Given the description of an element on the screen output the (x, y) to click on. 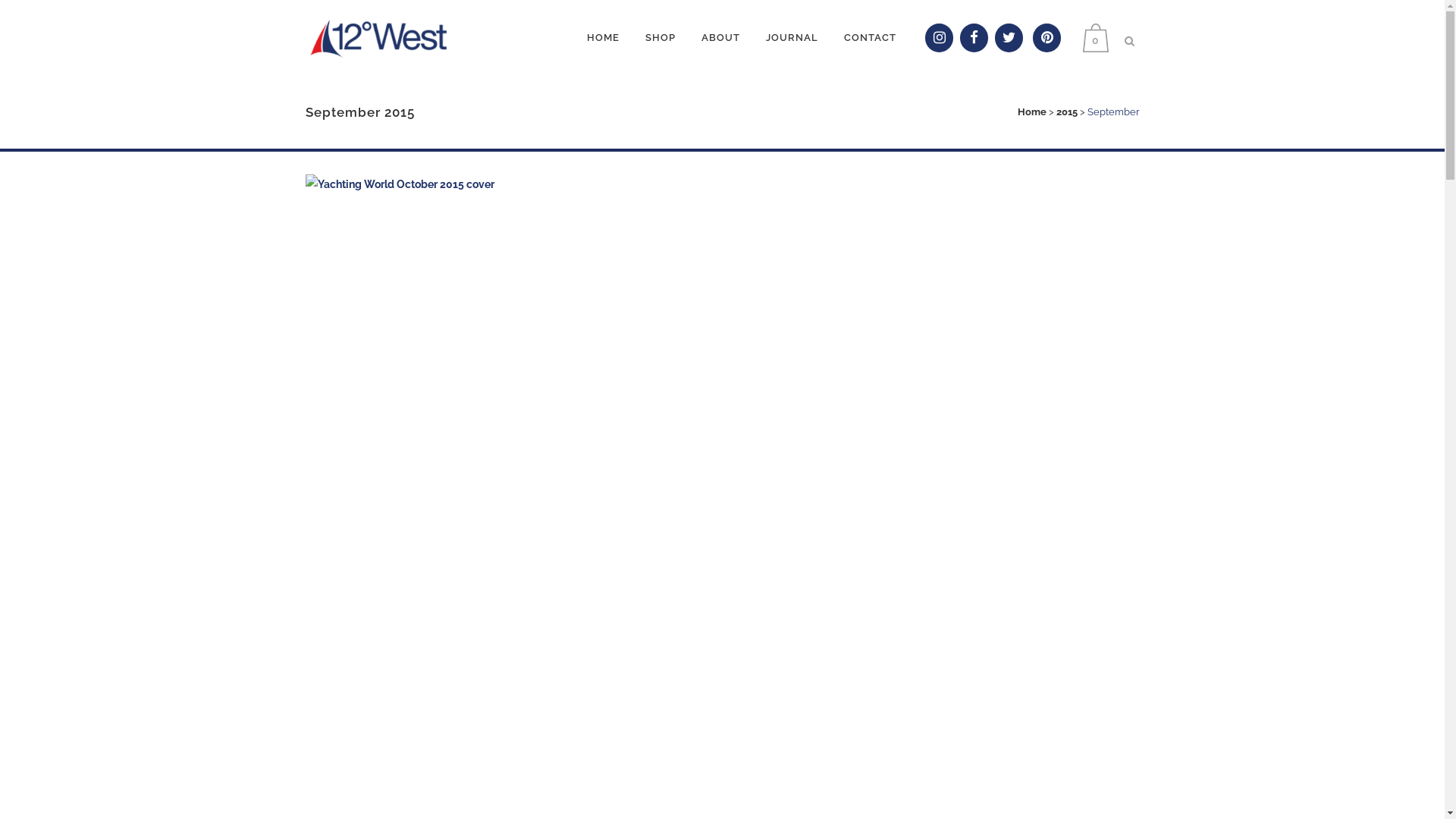
SHOP Element type: text (660, 37)
0 Element type: text (1098, 37)
CONTACT Element type: text (870, 37)
JOURNAL Element type: text (792, 37)
2015 Element type: text (1065, 111)
ABOUT Element type: text (720, 37)
HOME Element type: text (603, 37)
Home Element type: text (1031, 111)
